Given the description of an element on the screen output the (x, y) to click on. 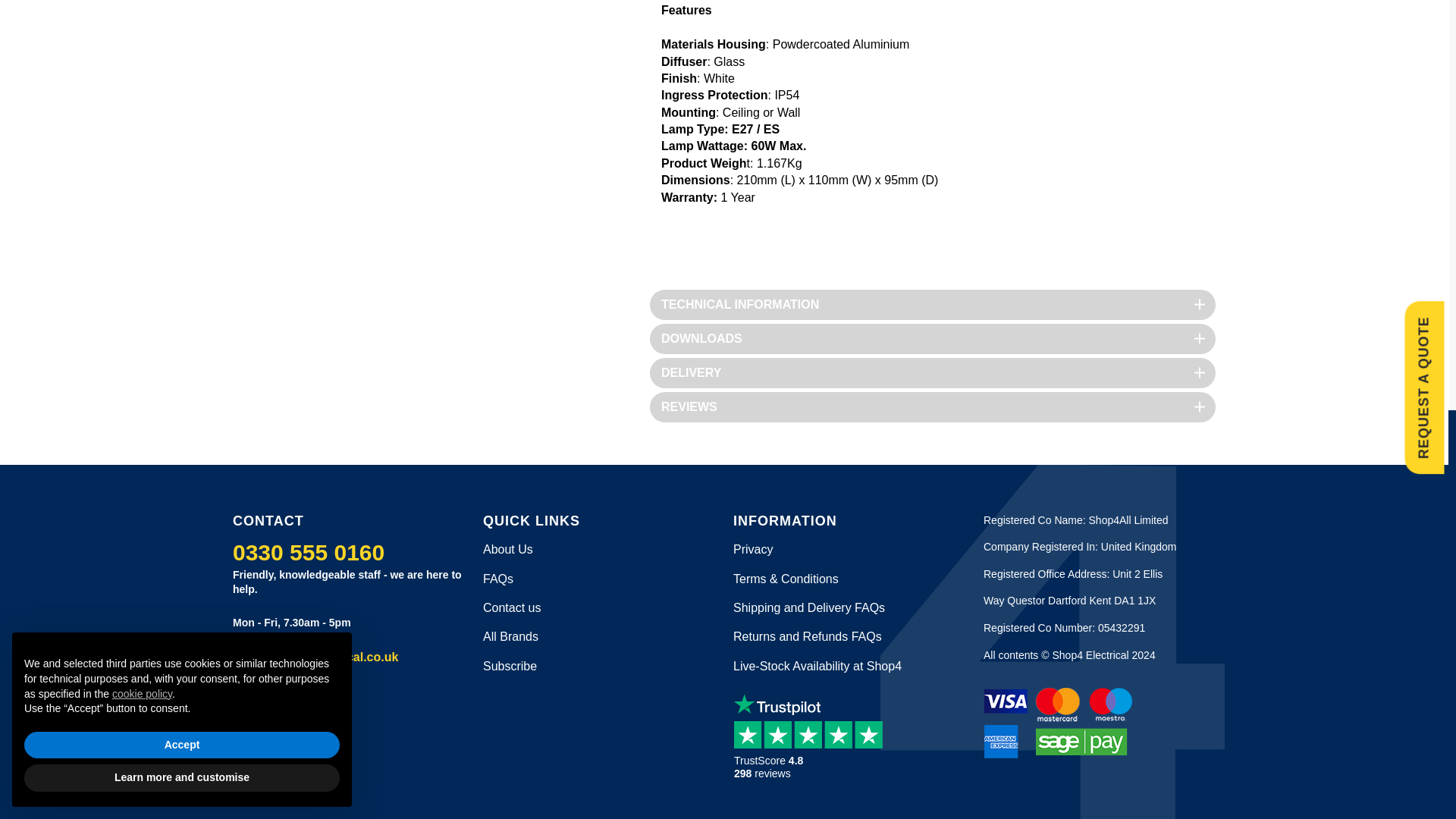
Learn more about us (507, 549)
Our terms and conditions of use (785, 578)
Customer reviews powered by Trustpilot (812, 749)
Legal notice (753, 549)
Use our form to contact us (511, 607)
